Given the description of an element on the screen output the (x, y) to click on. 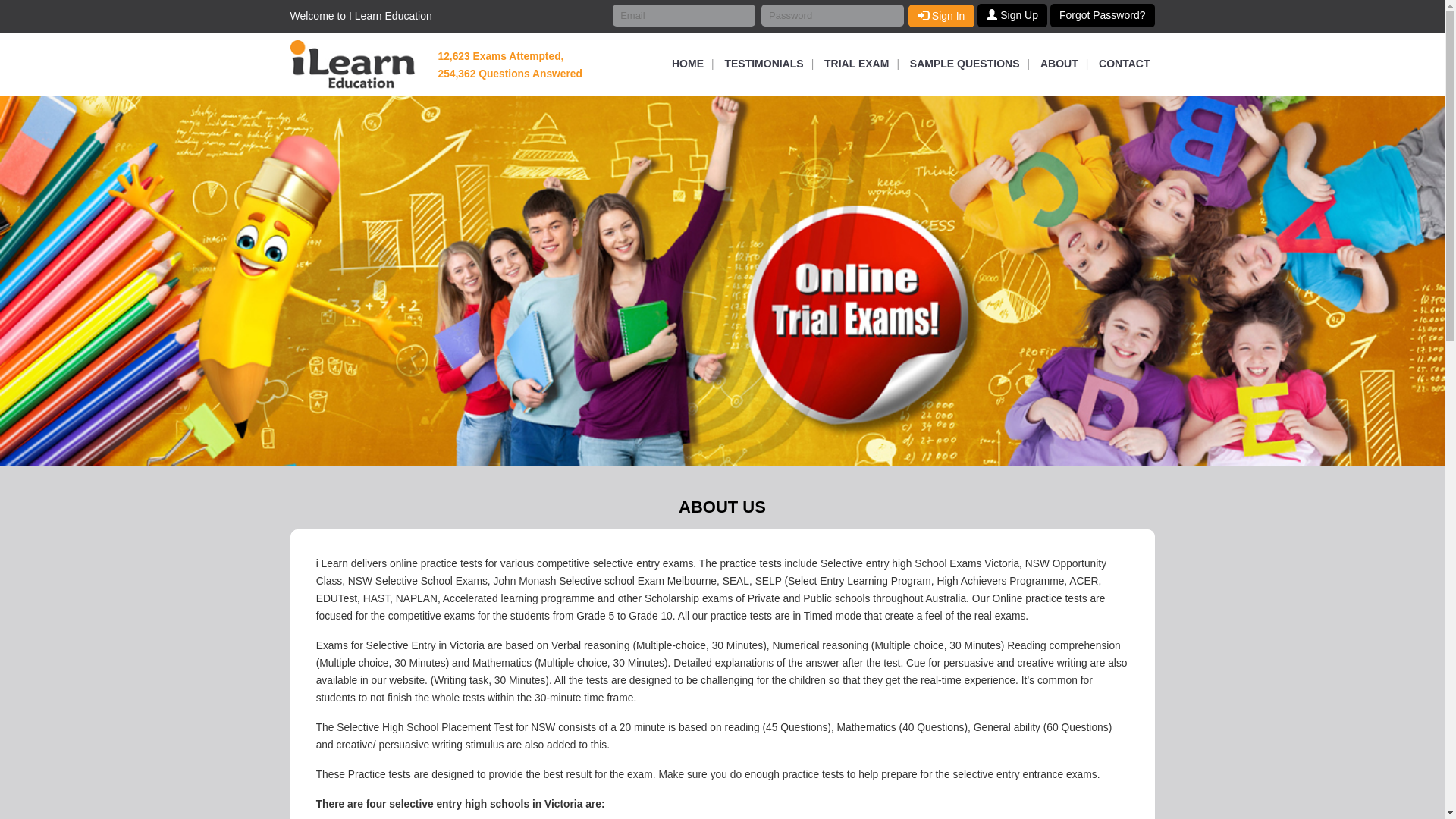
Sign In Element type: text (941, 15)
HOME Element type: text (687, 63)
SAMPLE QUESTIONS Element type: text (964, 63)
CONTACT Element type: text (1120, 63)
ABOUT Element type: text (1058, 63)
TESTIMONIALS Element type: text (763, 63)
Forgot Password? Element type: text (1102, 15)
TRIAL EXAM Element type: text (856, 63)
Sign Up Element type: text (1012, 15)
